Given the description of an element on the screen output the (x, y) to click on. 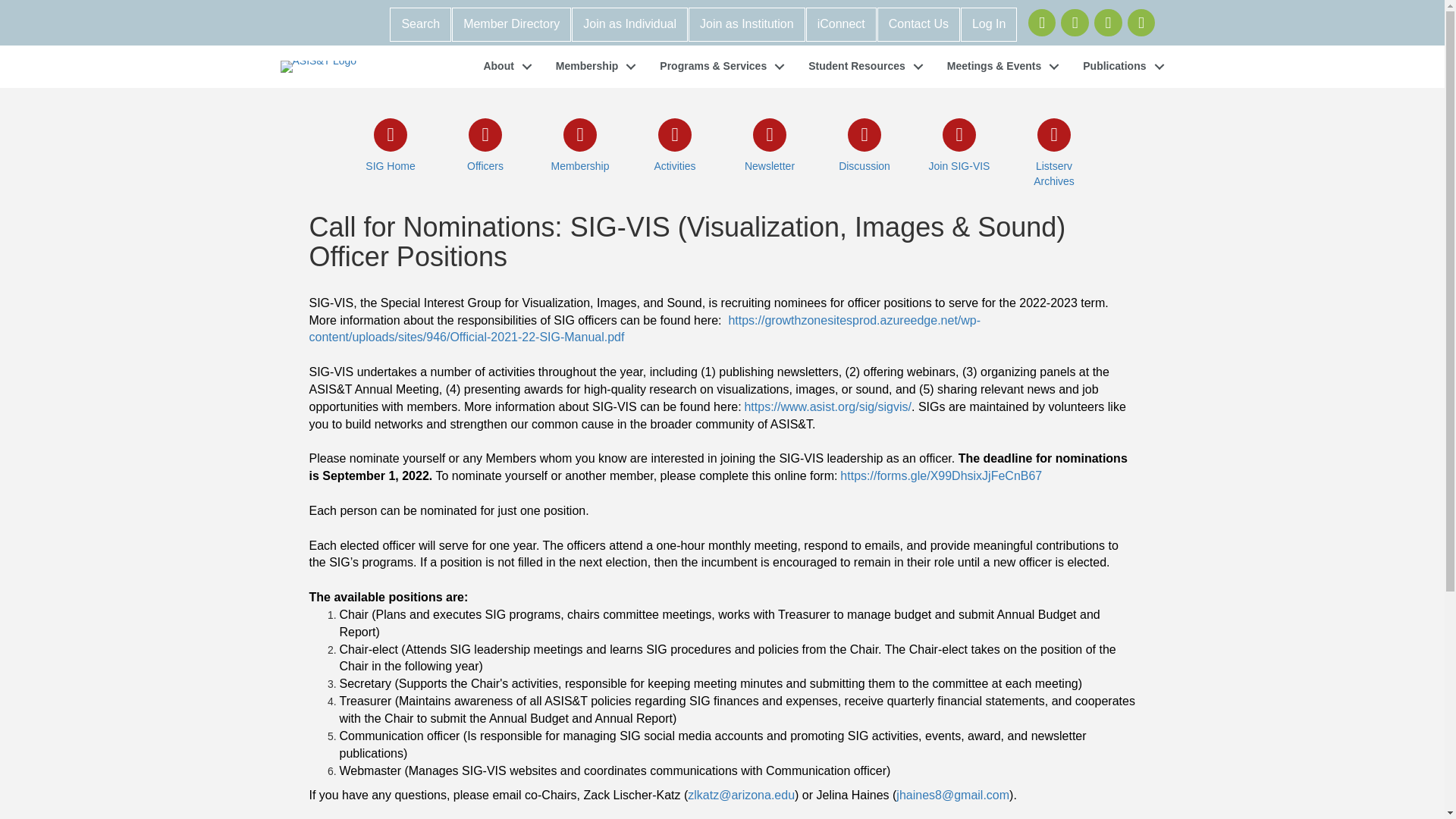
Log In (988, 24)
iConnect (841, 24)
Contact Us (918, 24)
Member Directory (510, 24)
About (502, 66)
Join as Institution (746, 24)
Join as Individual (629, 24)
Search (420, 24)
